Given the description of an element on the screen output the (x, y) to click on. 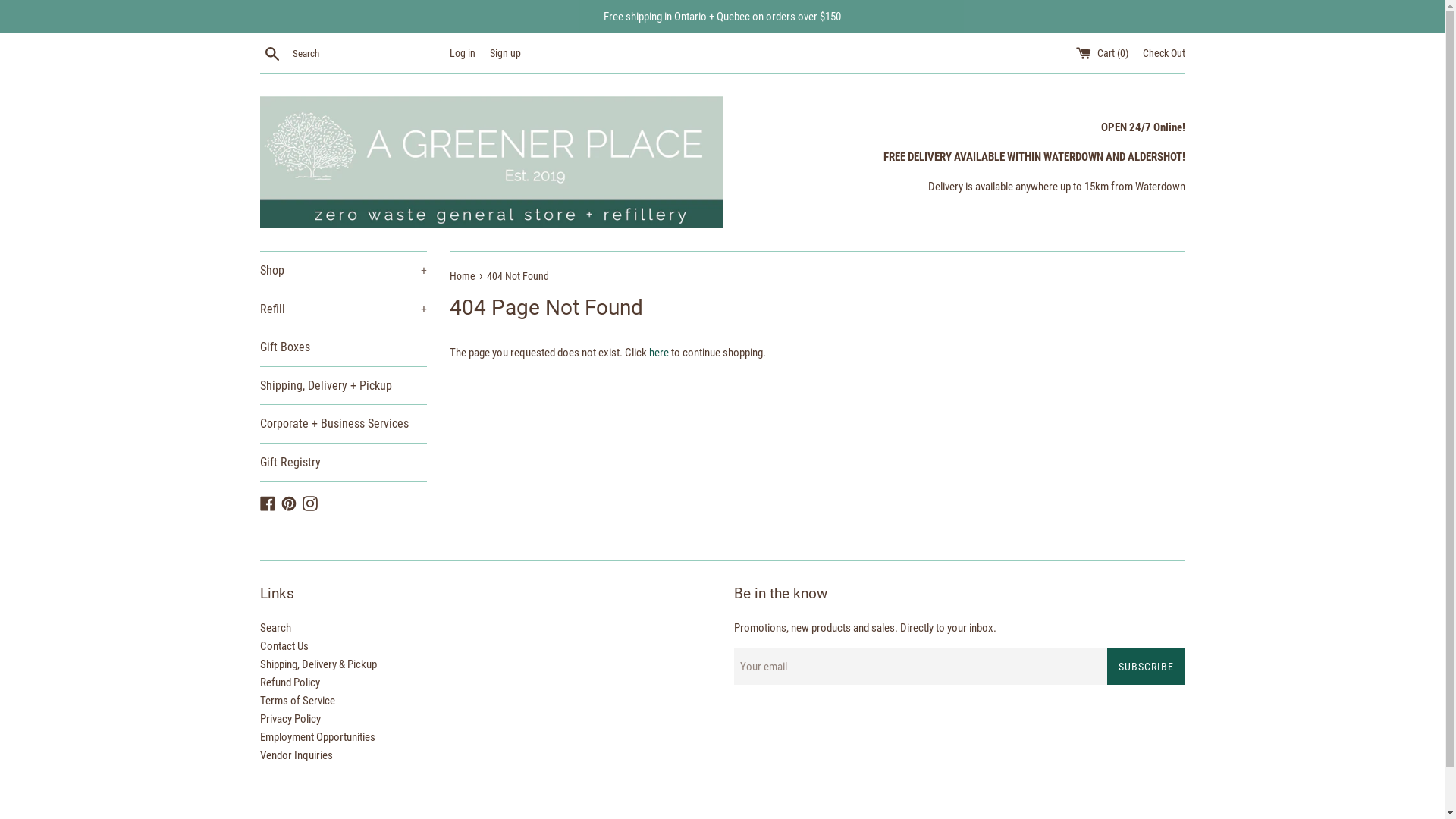
Pinterest Element type: text (287, 501)
Refund Policy Element type: text (289, 682)
Terms of Service Element type: text (296, 700)
SUBSCRIBE Element type: text (1146, 666)
Home Element type: text (462, 275)
Gift Registry Element type: text (342, 462)
Privacy Policy Element type: text (289, 718)
Refill
+ Element type: text (342, 309)
Cart (0) Element type: text (1102, 53)
Sign up Element type: text (504, 53)
Search Element type: text (274, 627)
Instagram Element type: text (308, 501)
Vendor Inquiries Element type: text (295, 755)
Shipping, Delivery & Pickup Element type: text (317, 664)
Facebook Element type: text (266, 501)
Employment Opportunities Element type: text (316, 736)
Gift Boxes Element type: text (342, 347)
Log in Element type: text (461, 53)
Shop
+ Element type: text (342, 270)
here Element type: text (658, 352)
Shipping, Delivery + Pickup Element type: text (342, 385)
Free shipping in Ontario + Quebec on orders over $150 Element type: text (722, 16)
Contact Us Element type: text (283, 645)
Check Out Element type: text (1163, 53)
Corporate + Business Services Element type: text (342, 423)
Search Element type: text (271, 52)
